Given the description of an element on the screen output the (x, y) to click on. 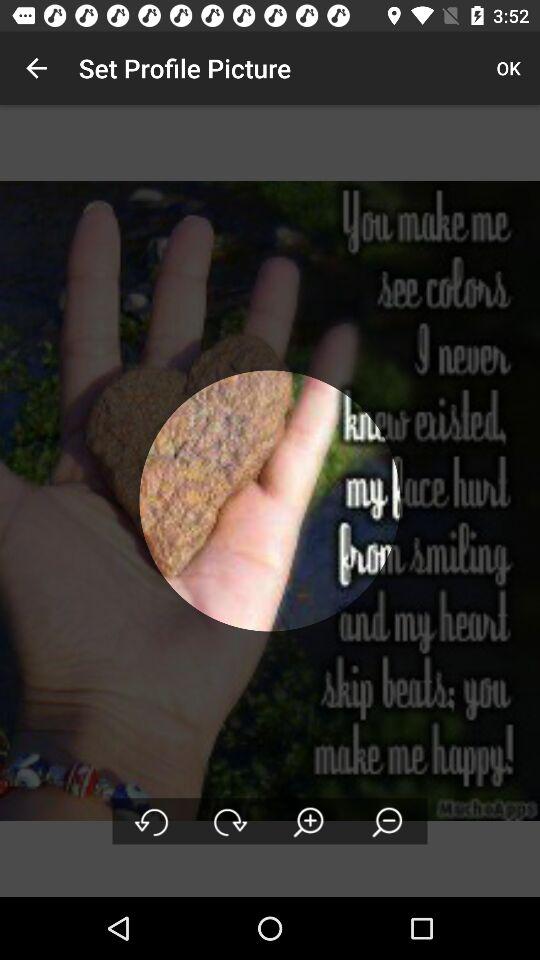
tap the app next to set profile picture app (36, 68)
